Given the description of an element on the screen output the (x, y) to click on. 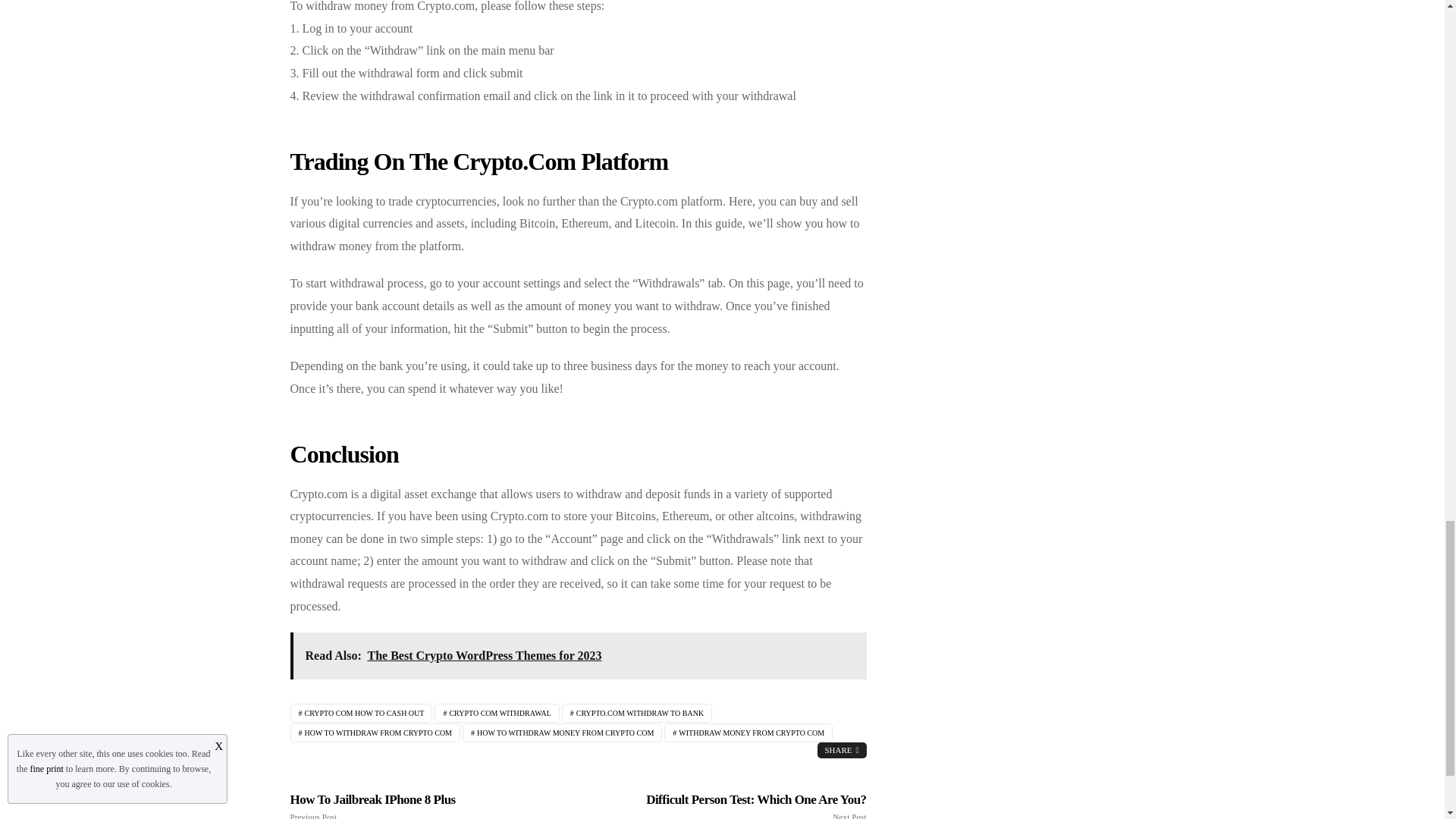
CRYPTO.COM WITHDRAW TO BANK (636, 712)
CRYPTO COM HOW TO CASH OUT (360, 712)
Read Also:  The Best Crypto WordPress Themes for 2023 (577, 655)
WITHDRAW MONEY FROM CRYPTO COM (747, 732)
HOW TO WITHDRAW FROM CRYPTO COM (374, 732)
HOW TO WITHDRAW MONEY FROM CRYPTO COM (562, 732)
CRYPTO COM WITHDRAWAL (496, 712)
